Given the description of an element on the screen output the (x, y) to click on. 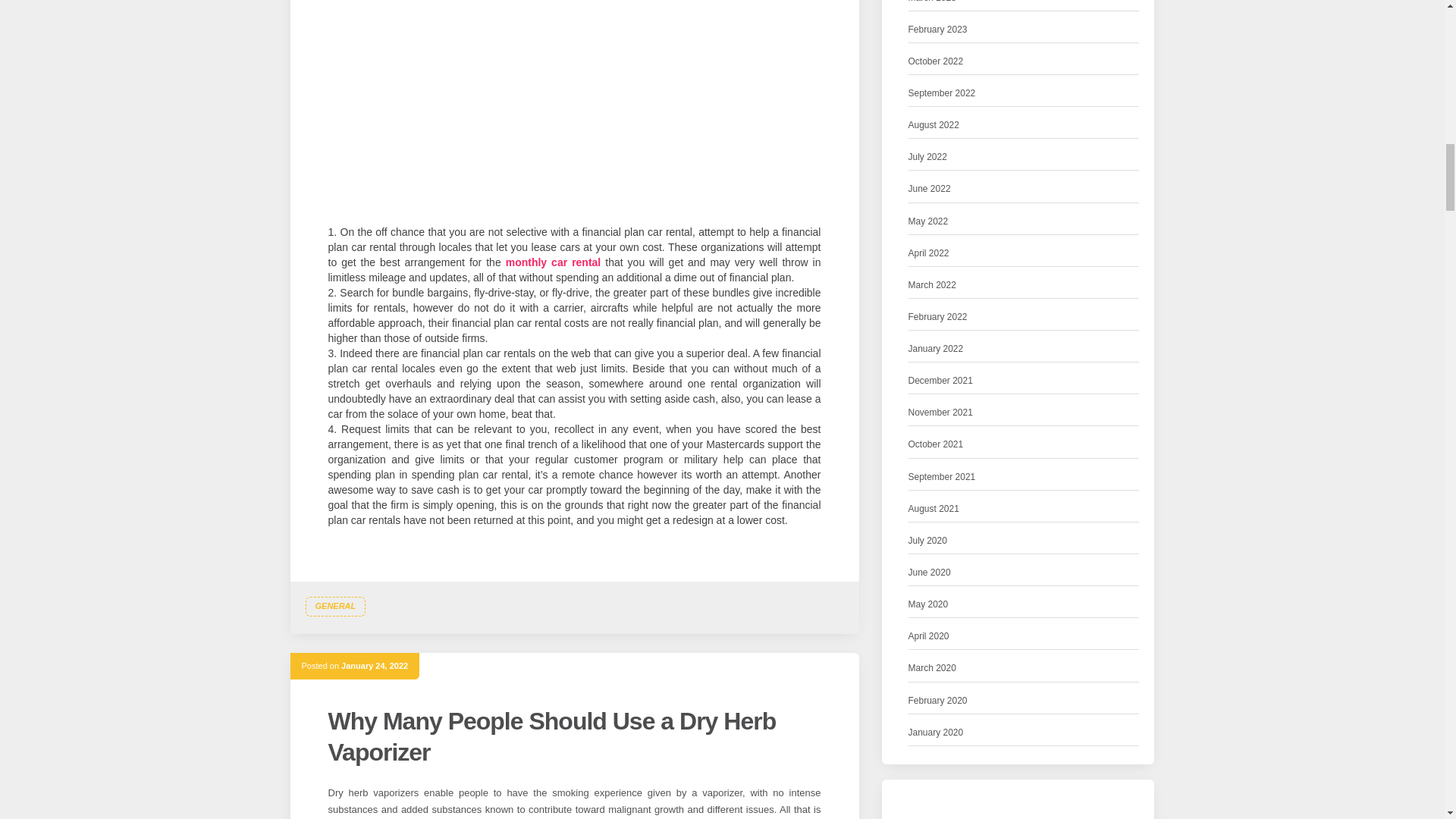
monthly car rental (553, 262)
GENERAL (334, 606)
Why Many People Should Use a Dry Herb Vaporizer (551, 735)
January 24, 2022 (373, 665)
